Given the description of an element on the screen output the (x, y) to click on. 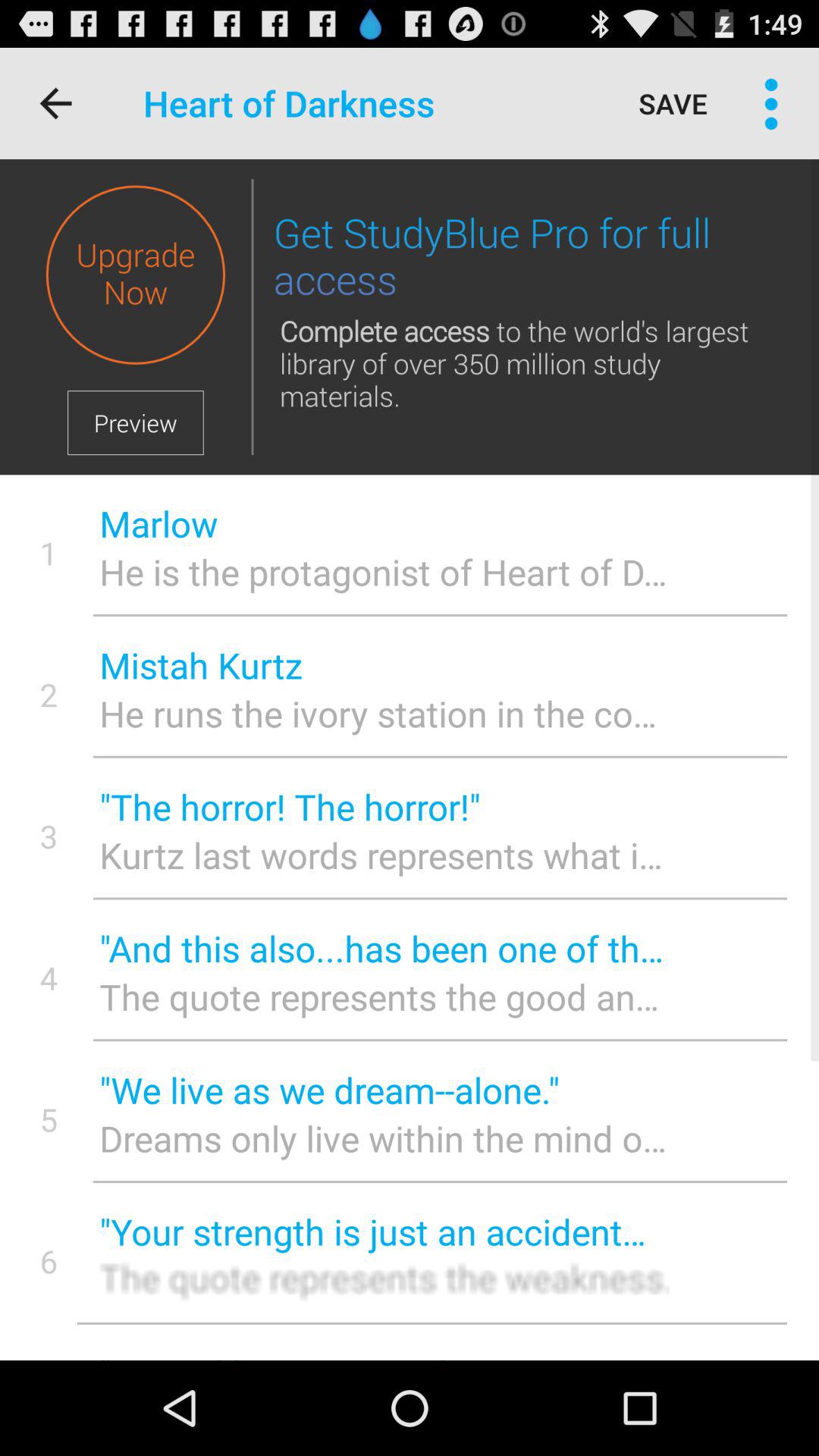
launch 2 (48, 694)
